Given the description of an element on the screen output the (x, y) to click on. 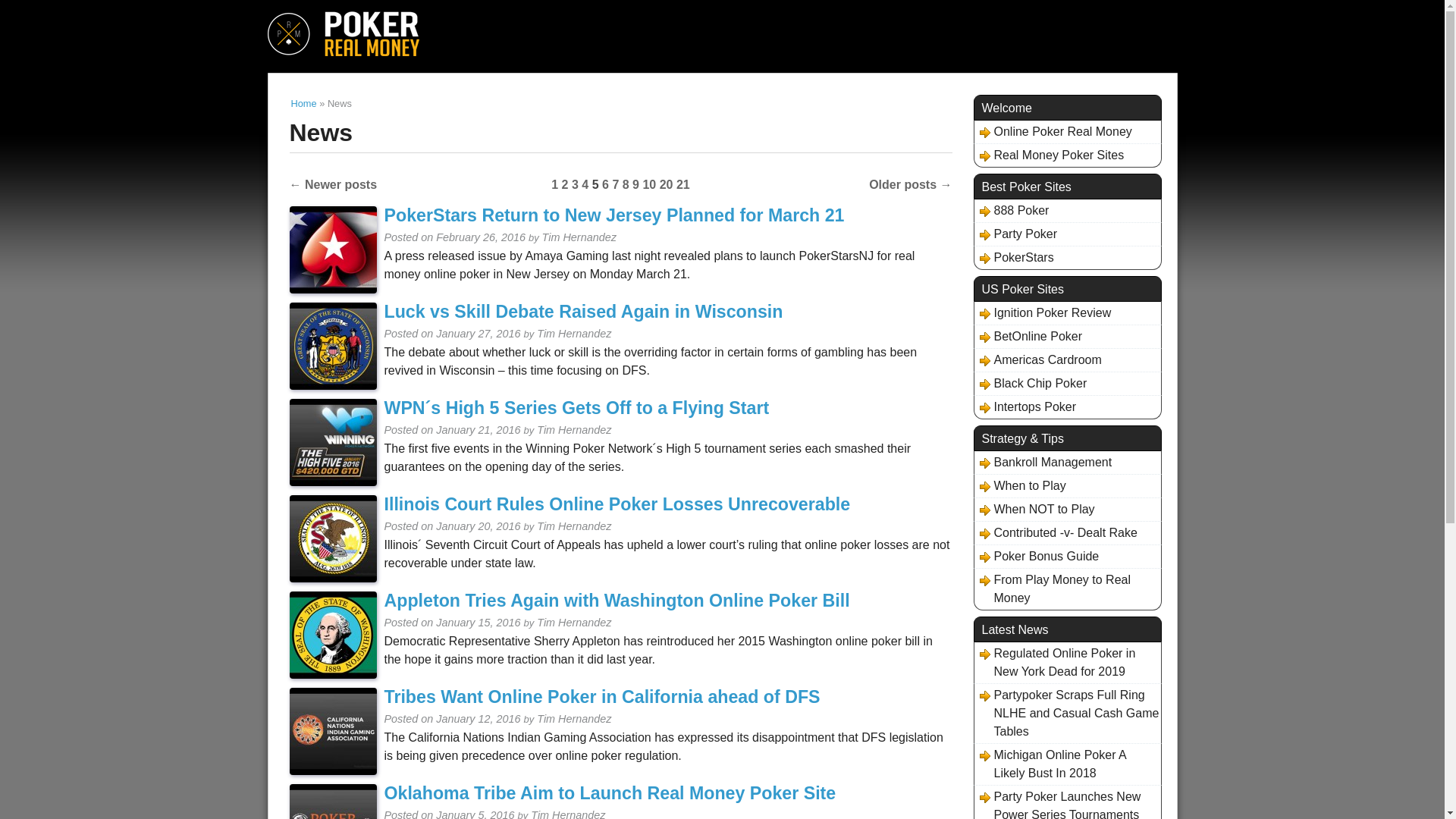
When NOT to Play (1035, 509)
Ignition Poker Review (1043, 312)
888 Poker (1011, 210)
Black Chip Poker (1030, 383)
Party Poker Launches New Power Series Tournaments (1067, 803)
Poker Bonus Guide (1037, 556)
Party Poker (1016, 234)
Contributed Rake -v- Dealt Rake (1056, 533)
Home (304, 102)
When NOT to Play Real Money Poker (1035, 509)
When to Play (1020, 485)
Online Poker Real Money (1053, 131)
BetOnline Poker (1028, 336)
Intertops Poker (1025, 407)
Poker Bonus Guide (1037, 556)
